Given the description of an element on the screen output the (x, y) to click on. 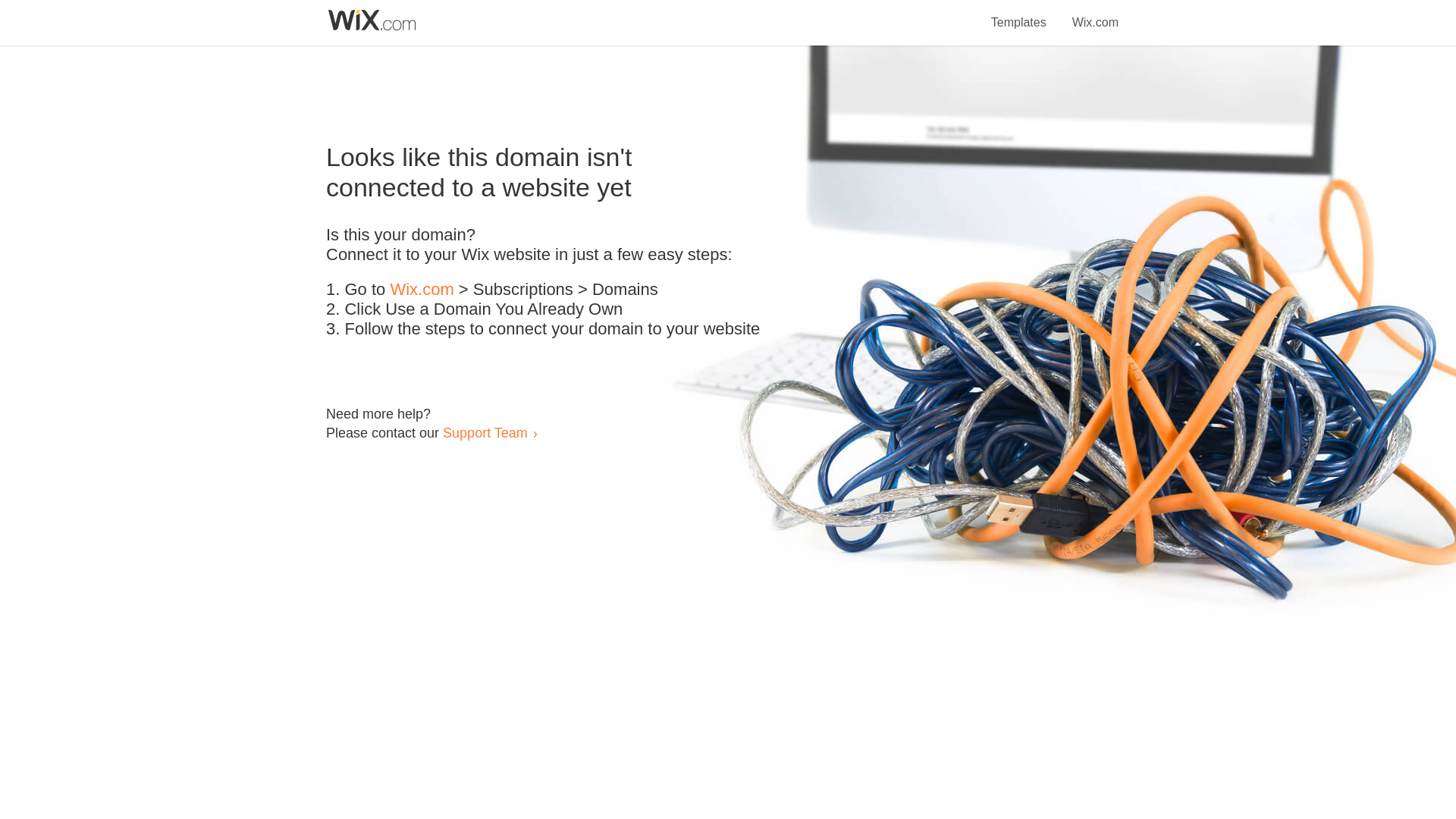
Templates (1018, 14)
Wix.com (421, 289)
Wix.com (1095, 14)
Support Team (484, 432)
